Given the description of an element on the screen output the (x, y) to click on. 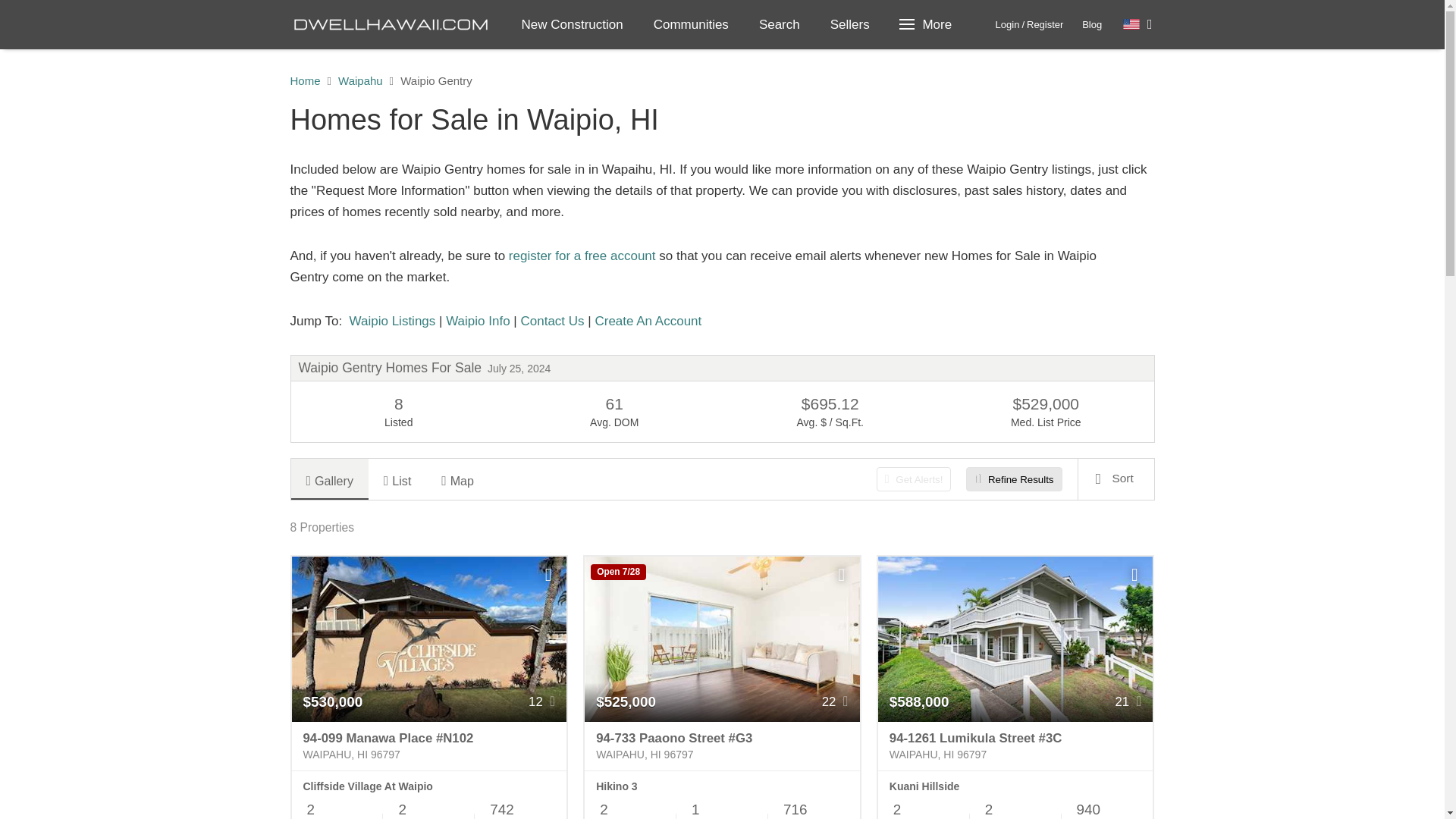
Create an account to track Mililani Mauka Homes (647, 320)
Learn about Mililani Mauka Amenities (477, 320)
Communities (691, 24)
Email Listing Alerts (582, 255)
New Construction (572, 24)
Contact us about Mililani Mauka Homes for sale (551, 320)
View Listings (390, 320)
Select Language (1137, 24)
